Given the description of an element on the screen output the (x, y) to click on. 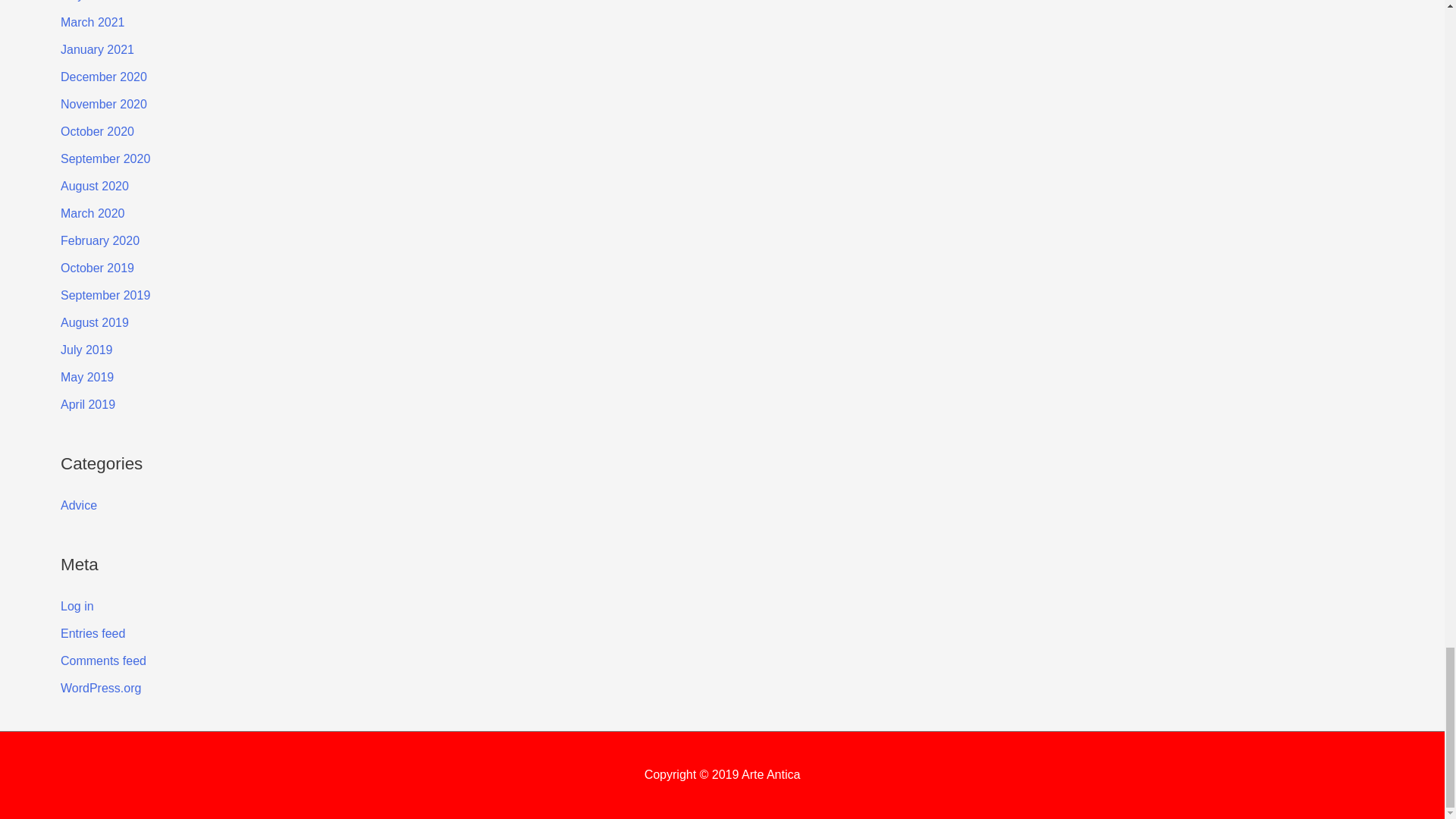
March 2020 (93, 213)
January 2021 (97, 49)
May 2021 (87, 0)
October 2019 (97, 267)
August 2020 (95, 185)
December 2020 (104, 76)
February 2020 (100, 240)
November 2020 (104, 103)
September 2020 (105, 158)
October 2020 (97, 131)
March 2021 (93, 21)
